Given the description of an element on the screen output the (x, y) to click on. 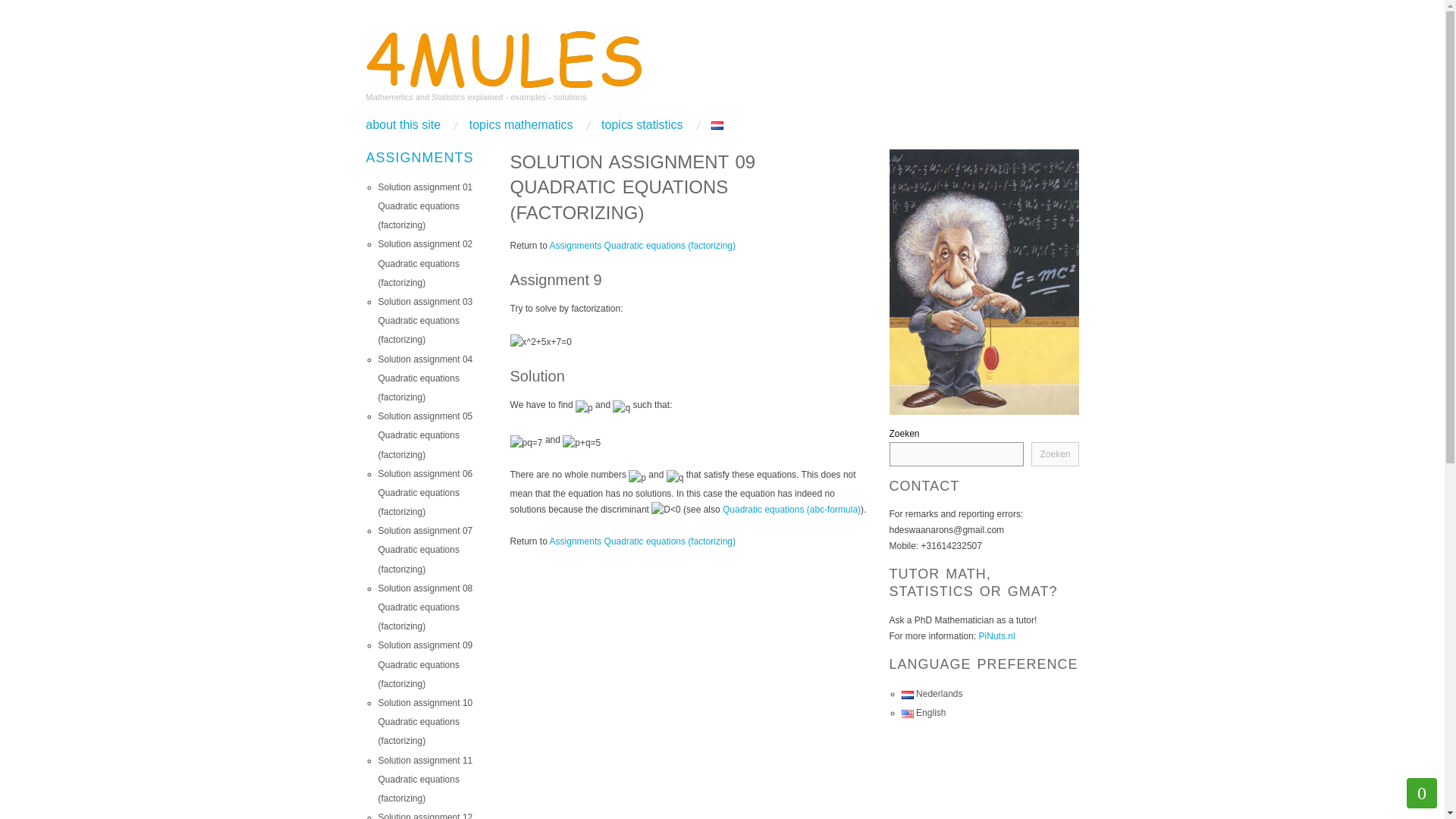
ASSIGNMENTS (419, 157)
topics statistics (641, 123)
topics mathematics (520, 123)
Nederlands (931, 693)
PiNuts.nl (996, 635)
4mules (503, 56)
English (923, 712)
Zoeken (1054, 454)
Assignments (419, 157)
about this site (403, 123)
